Given the description of an element on the screen output the (x, y) to click on. 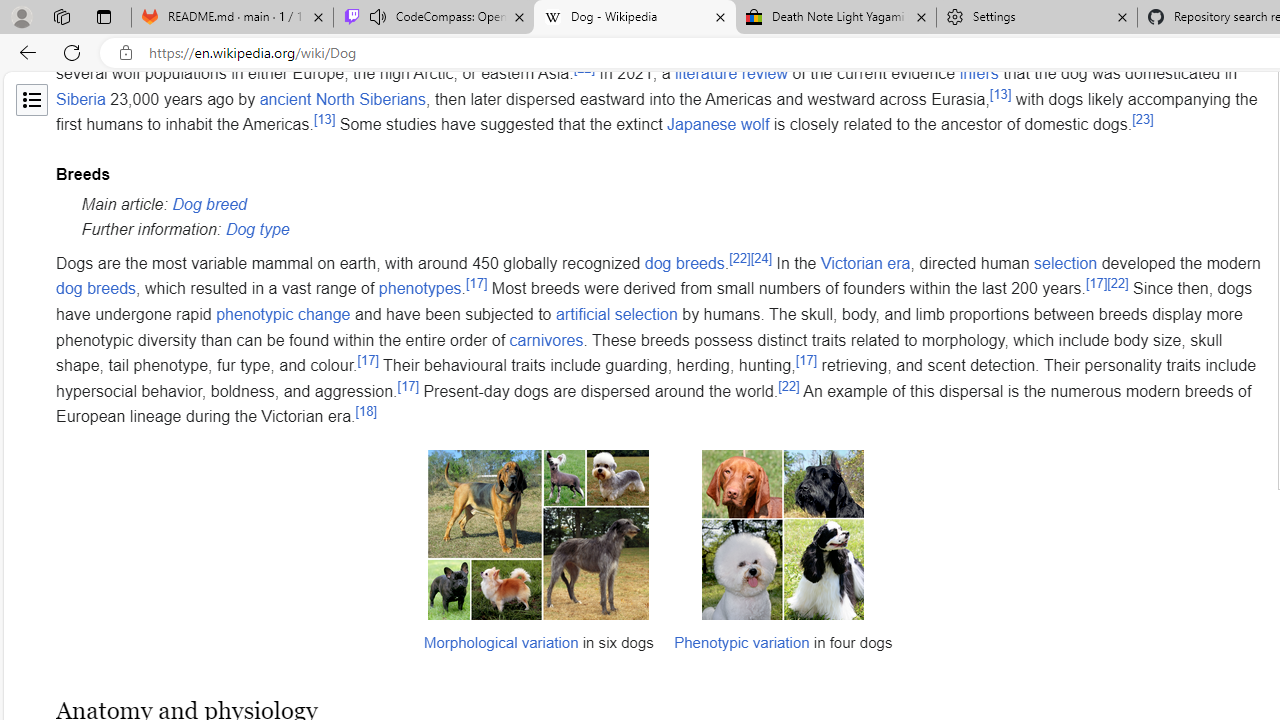
phenotypic change (283, 314)
ancient North Siberians (342, 99)
[18] (365, 411)
Dog breed (209, 204)
Morphological variation in six dogs (537, 534)
Japanese wolf (718, 124)
Dog type (257, 230)
